Given the description of an element on the screen output the (x, y) to click on. 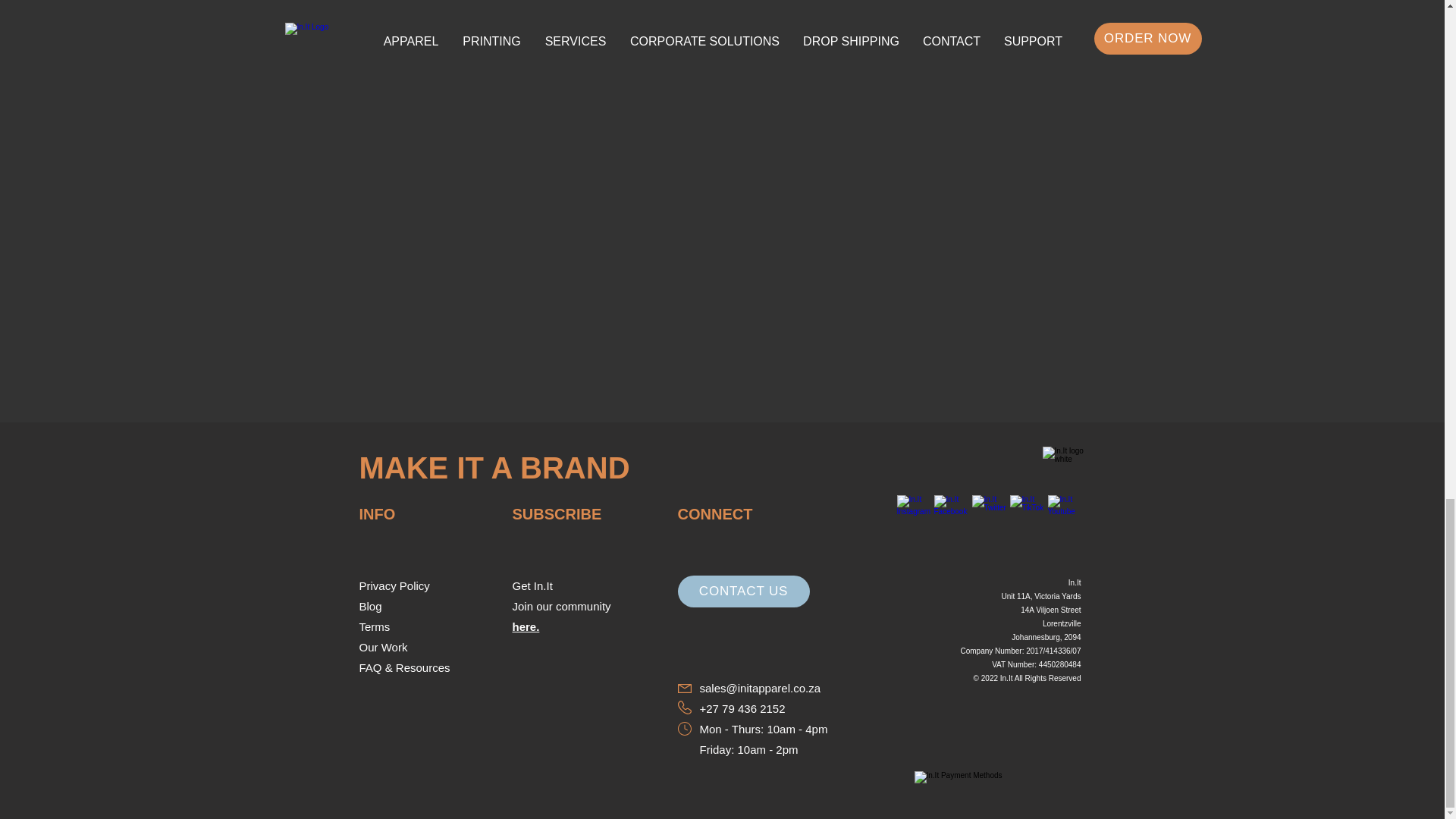
Our Work (383, 646)
Blog (370, 605)
Terms (374, 626)
Privacy Policy (394, 585)
